Given the description of an element on the screen output the (x, y) to click on. 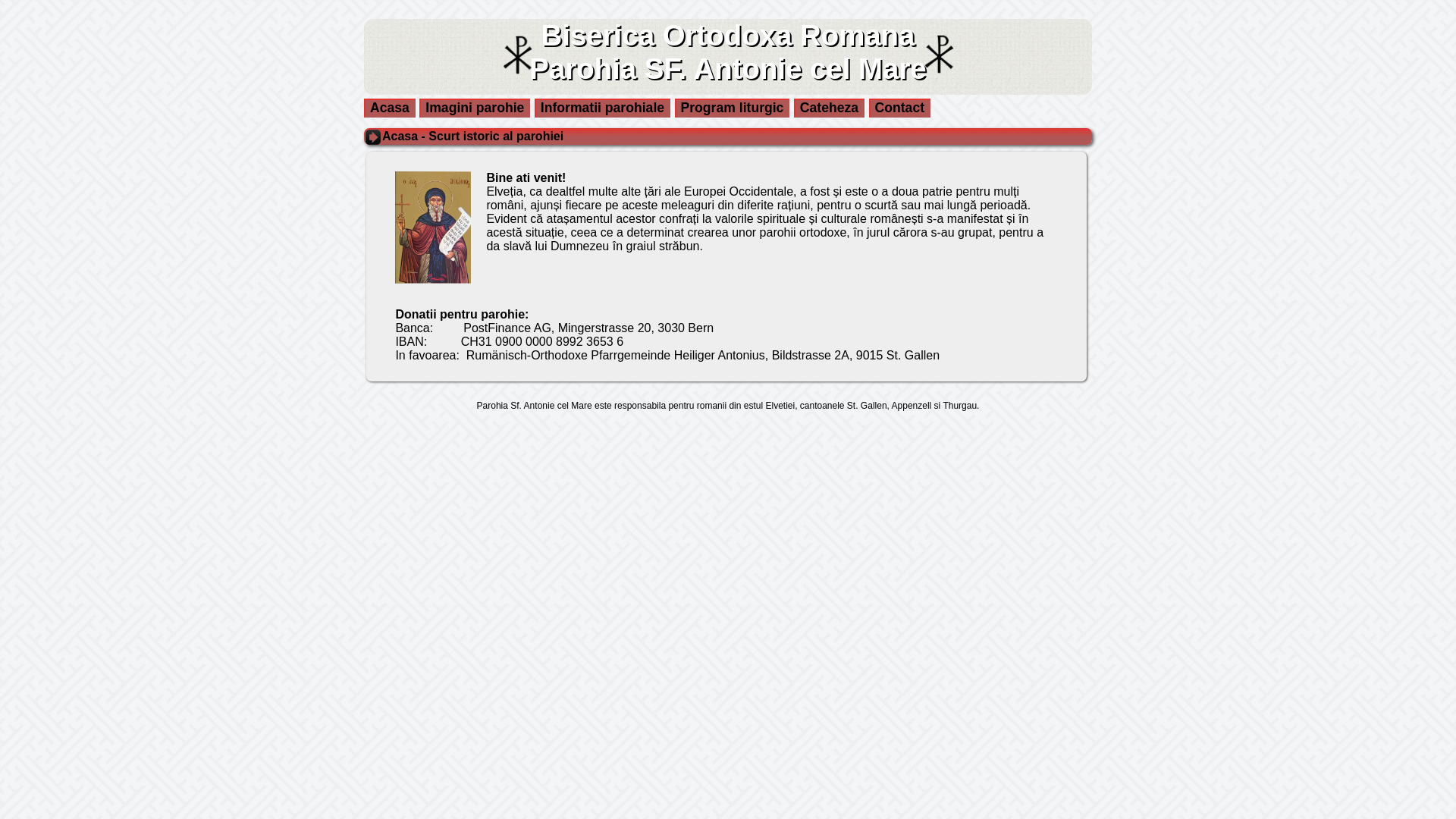
Program liturgic Element type: text (732, 107)
Contact Element type: text (900, 107)
Acasa Element type: text (389, 107)
Cateheza Element type: text (828, 107)
Informatii parohiale Element type: text (602, 107)
Imagini parohie Element type: text (474, 107)
